Given the description of an element on the screen output the (x, y) to click on. 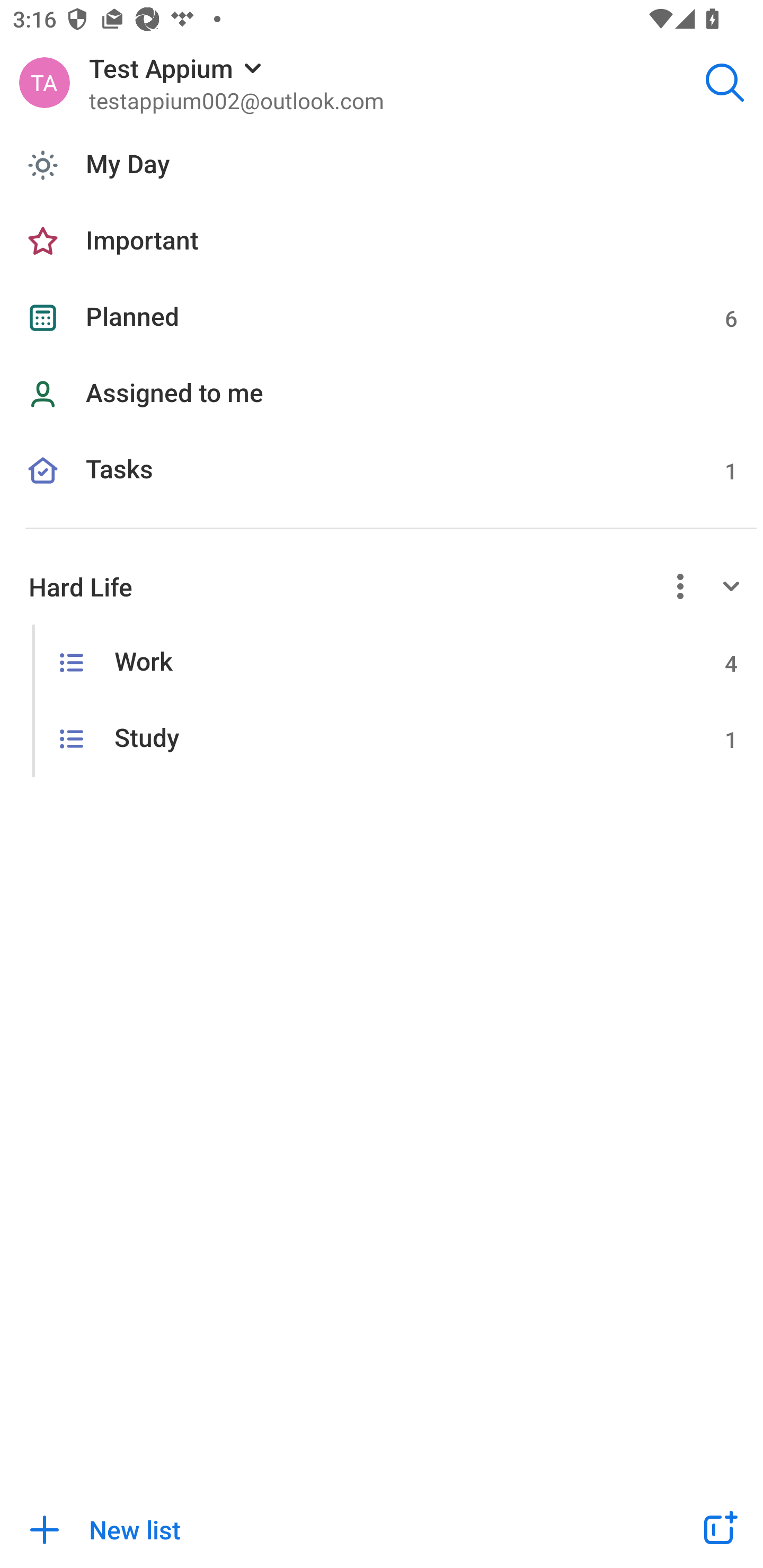
Study, 1 tasks Study 1 (381, 738)
